Given the description of an element on the screen output the (x, y) to click on. 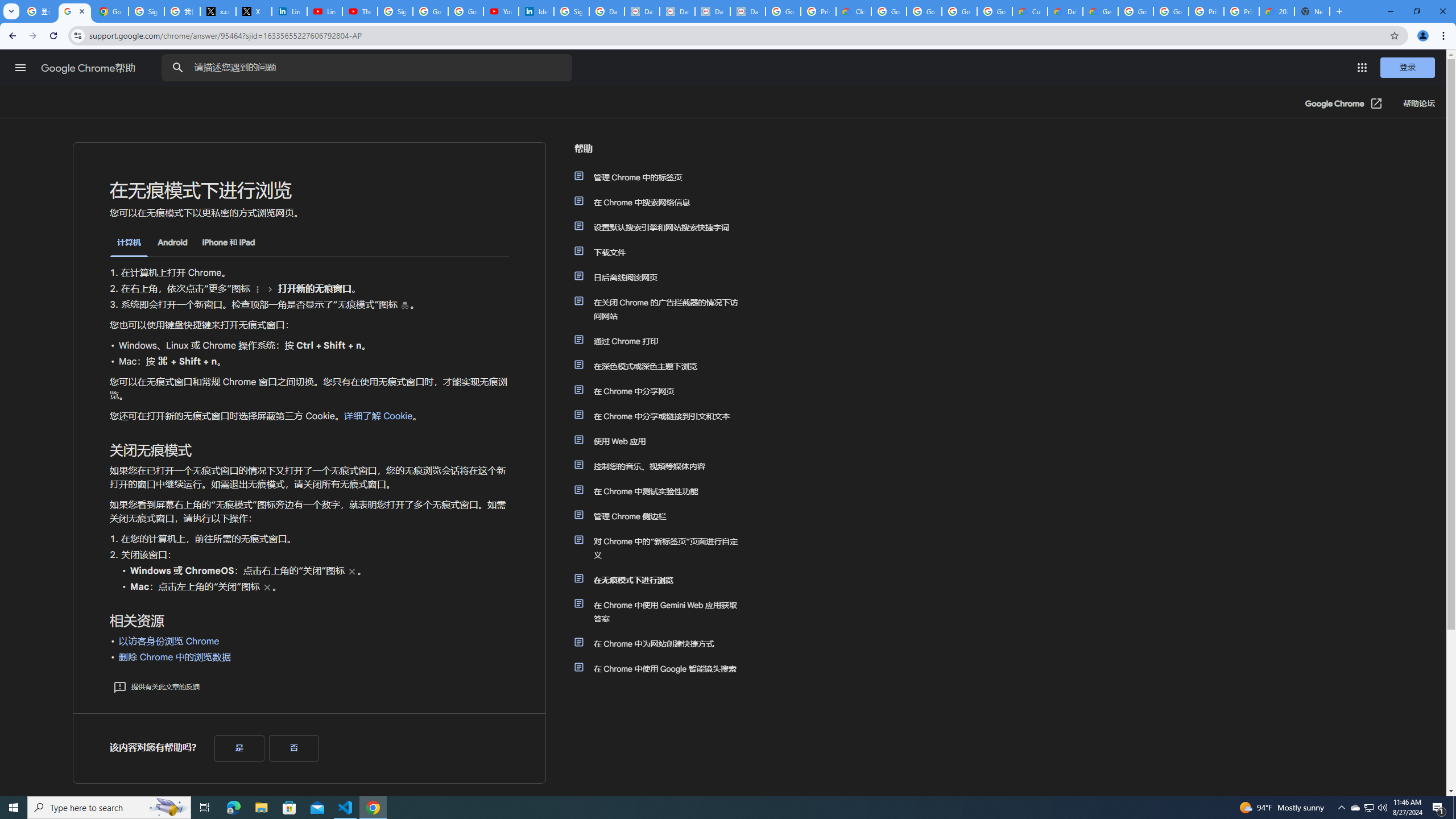
Cloud Data Processing Addendum | Google Cloud (853, 11)
Gemini for Business and Developers | Google Cloud (1099, 11)
Google Workspace - Specific Terms (959, 11)
Customer Care | Google Cloud (1029, 11)
